Given the description of an element on the screen output the (x, y) to click on. 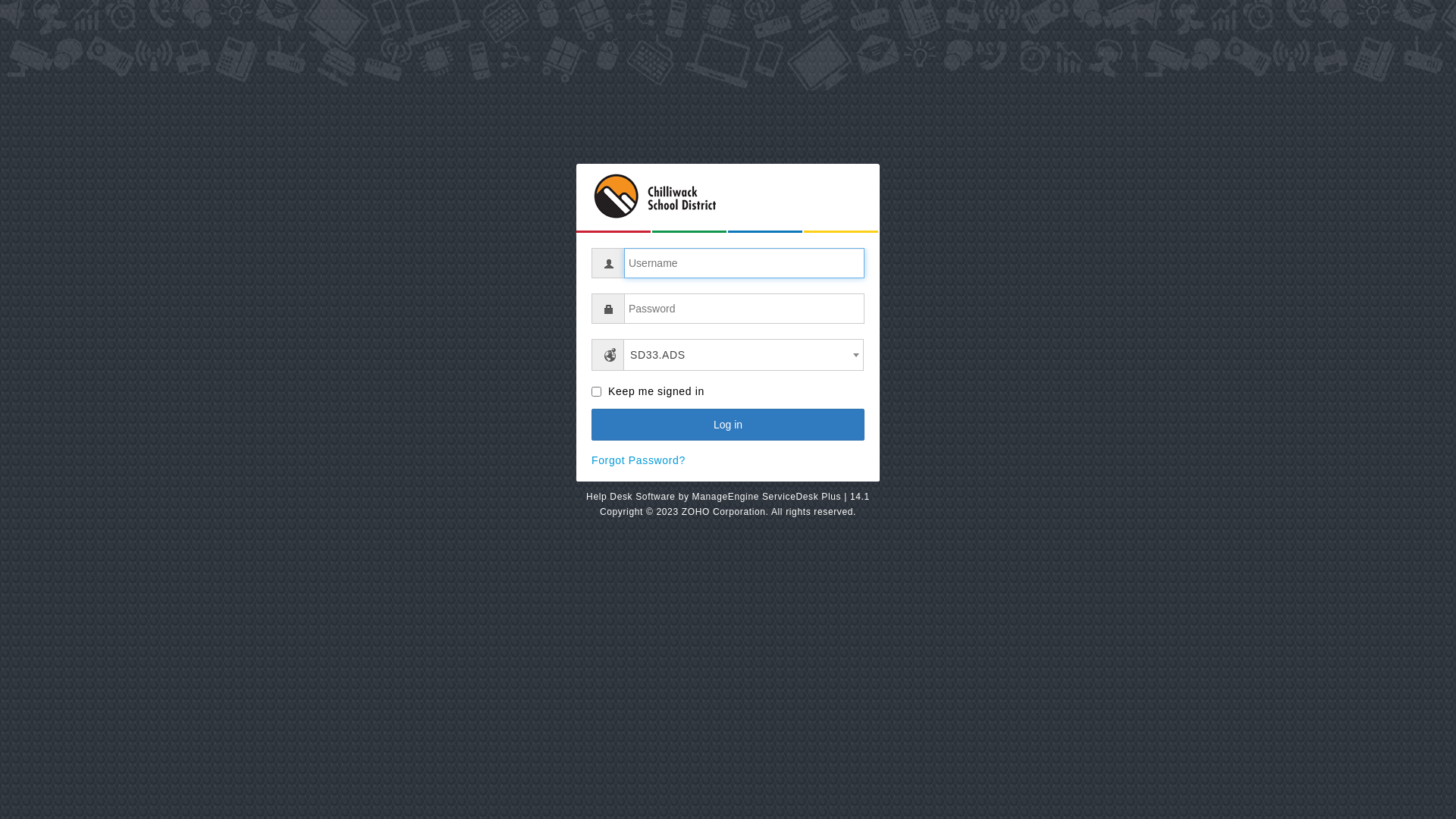
ManageEngine ServiceDesk Plus | 14.1 Element type: text (780, 496)
Log in Element type: text (727, 424)
Help Desk Software Element type: text (630, 496)
SD33.ADS Element type: text (743, 354)
Forgot Password? Element type: text (638, 460)
